Given the description of an element on the screen output the (x, y) to click on. 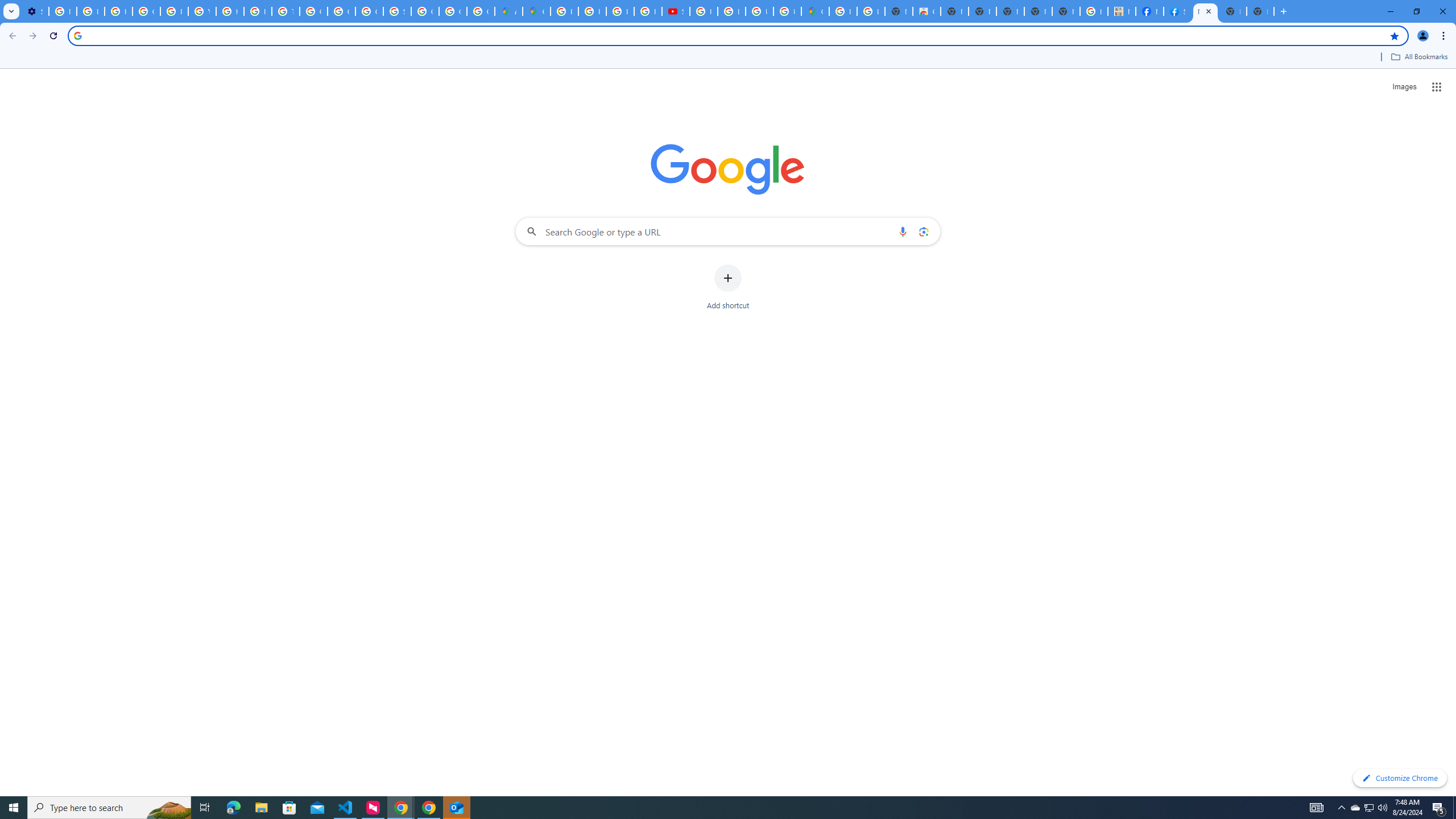
https://scholar.google.com/ (229, 11)
MILEY CYRUS. (1121, 11)
Delete photos & videos - Computer - Google Photos Help (62, 11)
Google Maps (536, 11)
Privacy Help Center - Policies Help (592, 11)
Search Google or type a URL (727, 230)
